Given the description of an element on the screen output the (x, y) to click on. 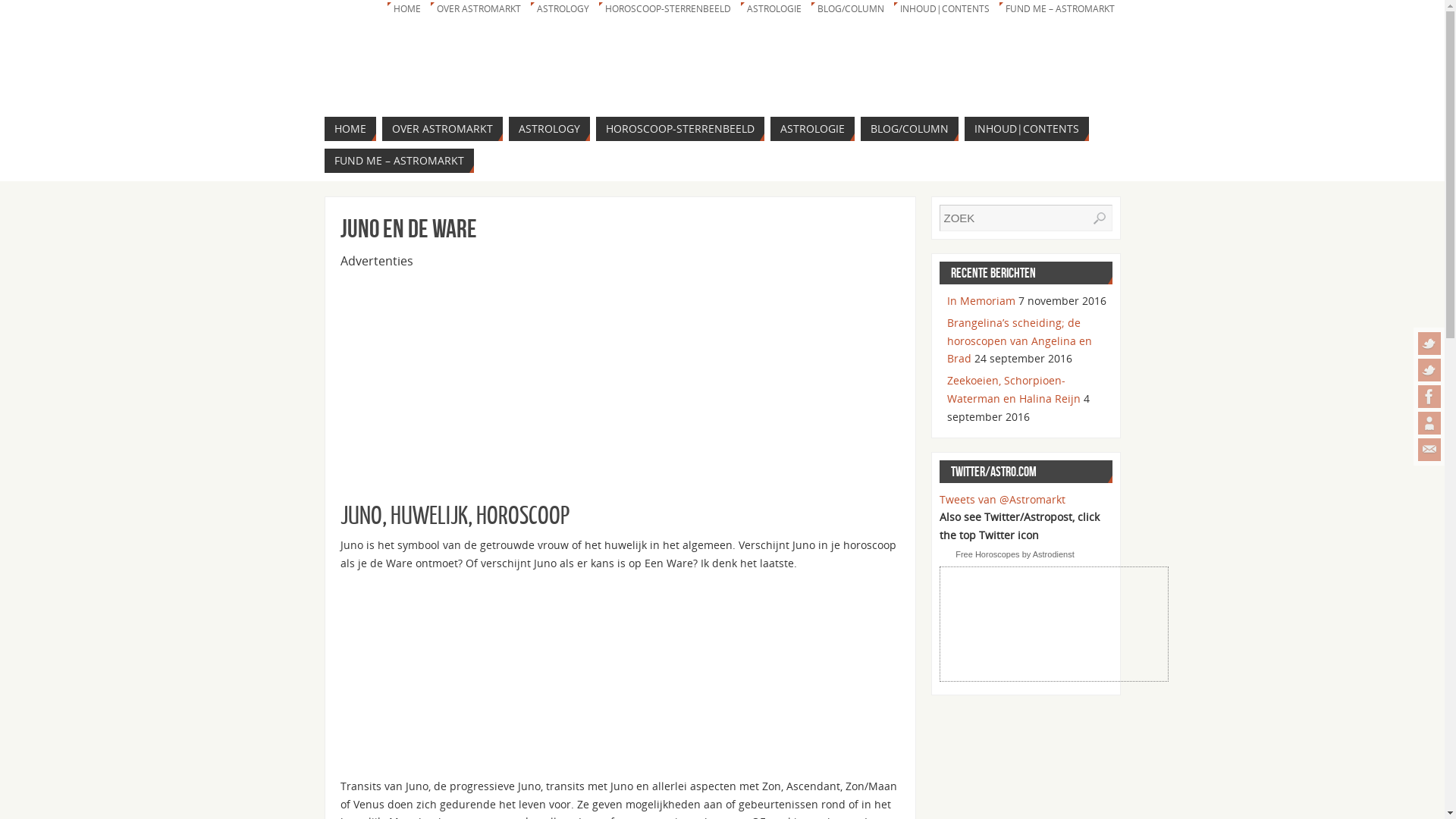
Twitter/Astromarkt Element type: hover (1429, 369)
ASTROLOGIE Element type: text (771, 9)
OVER ASTROMARKT Element type: text (476, 9)
BLOG/COLUMN Element type: text (848, 9)
BLOG/COLUMN Element type: text (908, 128)
Tweets van @Astromarkt Element type: text (1001, 499)
INHOUD|CONTENTS Element type: text (1026, 128)
HOME Element type: text (350, 128)
Free Horoscopes by Astrodienst Element type: text (1014, 553)
INHOUD|CONTENTS Element type: text (941, 9)
ASTROLOGY Element type: text (561, 9)
Facebook/Astromarkt Element type: hover (1429, 396)
Advertisement Element type: hover (619, 375)
Zeekoeien, Schorpioen-Waterman en Halina Reijn Element type: text (1012, 389)
OVER ASTROMARKT Element type: text (442, 128)
ASTROLOGIE Element type: text (812, 128)
HOROSCOOP-STERRENBEELD Element type: text (680, 128)
HOROSCOOP-STERRENBEELD Element type: text (665, 9)
AboutMe Element type: hover (1429, 422)
HOME Element type: text (404, 9)
ASTROLOGY Element type: text (548, 128)
Astromarkt@gmail.com Element type: hover (1429, 449)
In Memoriam Element type: text (980, 300)
Twitter/Astropost Element type: hover (1429, 343)
Advertisement Element type: hover (453, 677)
